Given the description of an element on the screen output the (x, y) to click on. 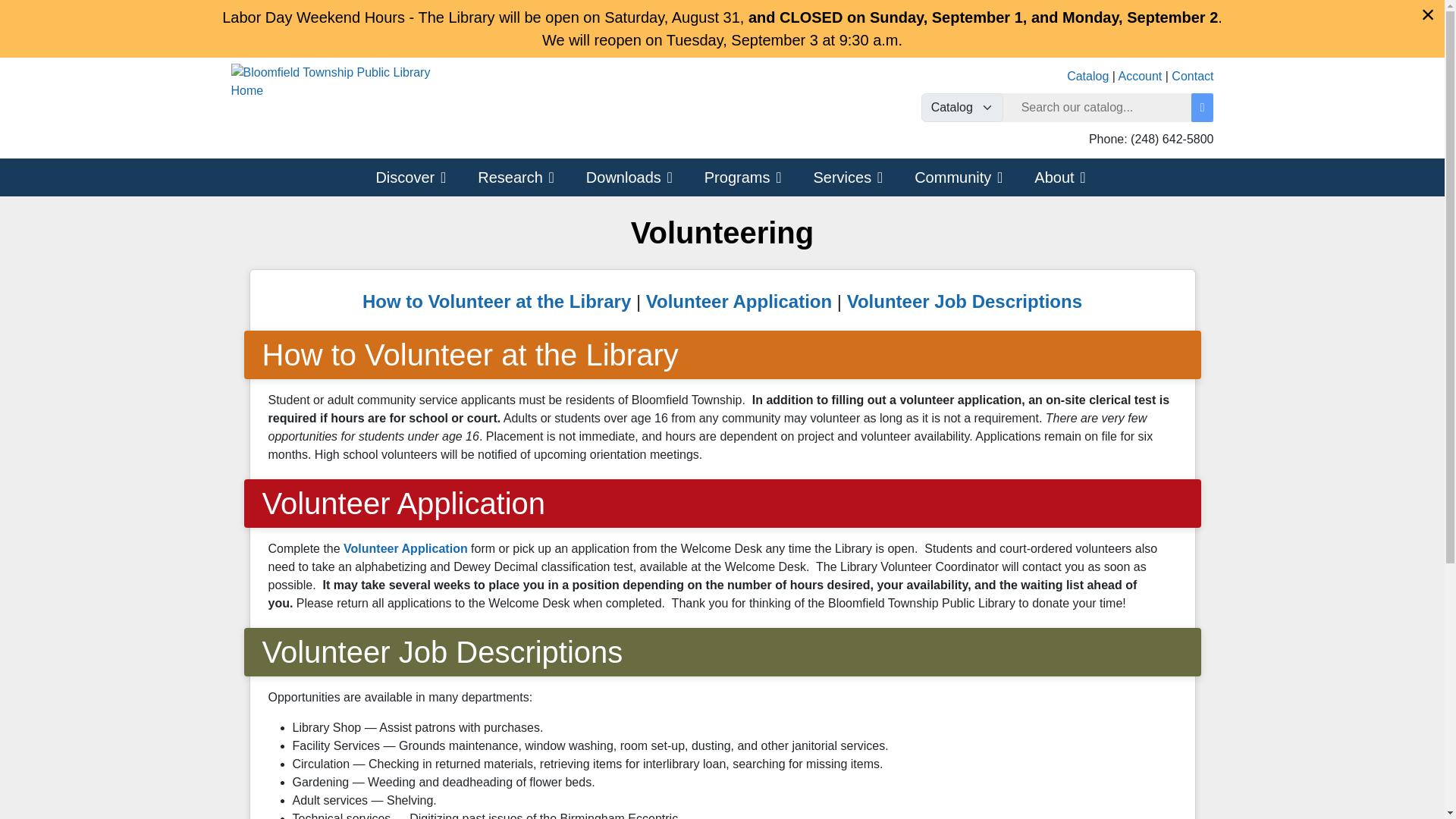
Contact (1192, 75)
Catalog (1087, 75)
Account (1139, 75)
Services (839, 177)
Programs (734, 177)
Downloads (620, 177)
Discover (401, 177)
Research (507, 177)
